Given the description of an element on the screen output the (x, y) to click on. 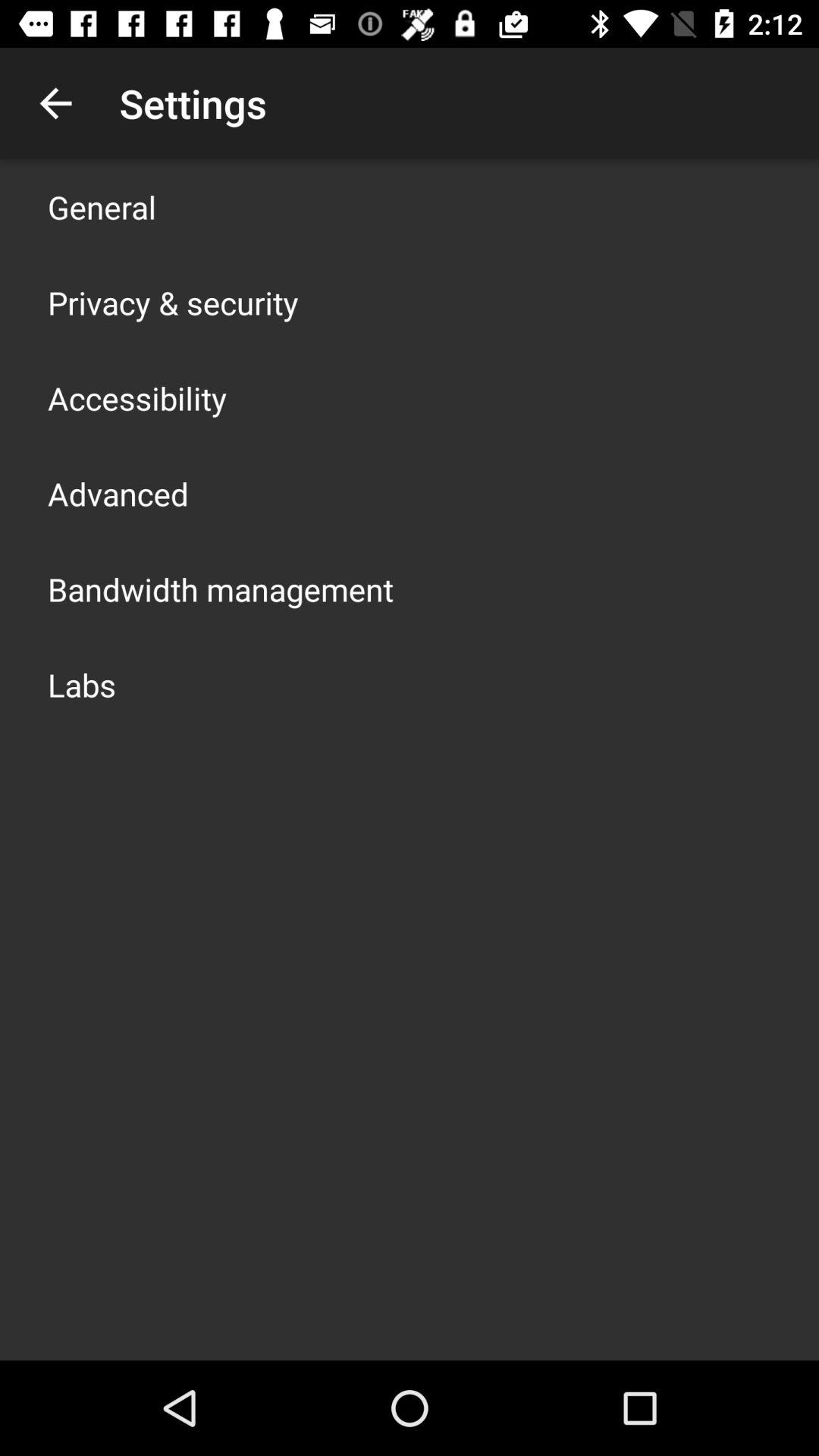
click app below bandwidth management item (81, 684)
